Given the description of an element on the screen output the (x, y) to click on. 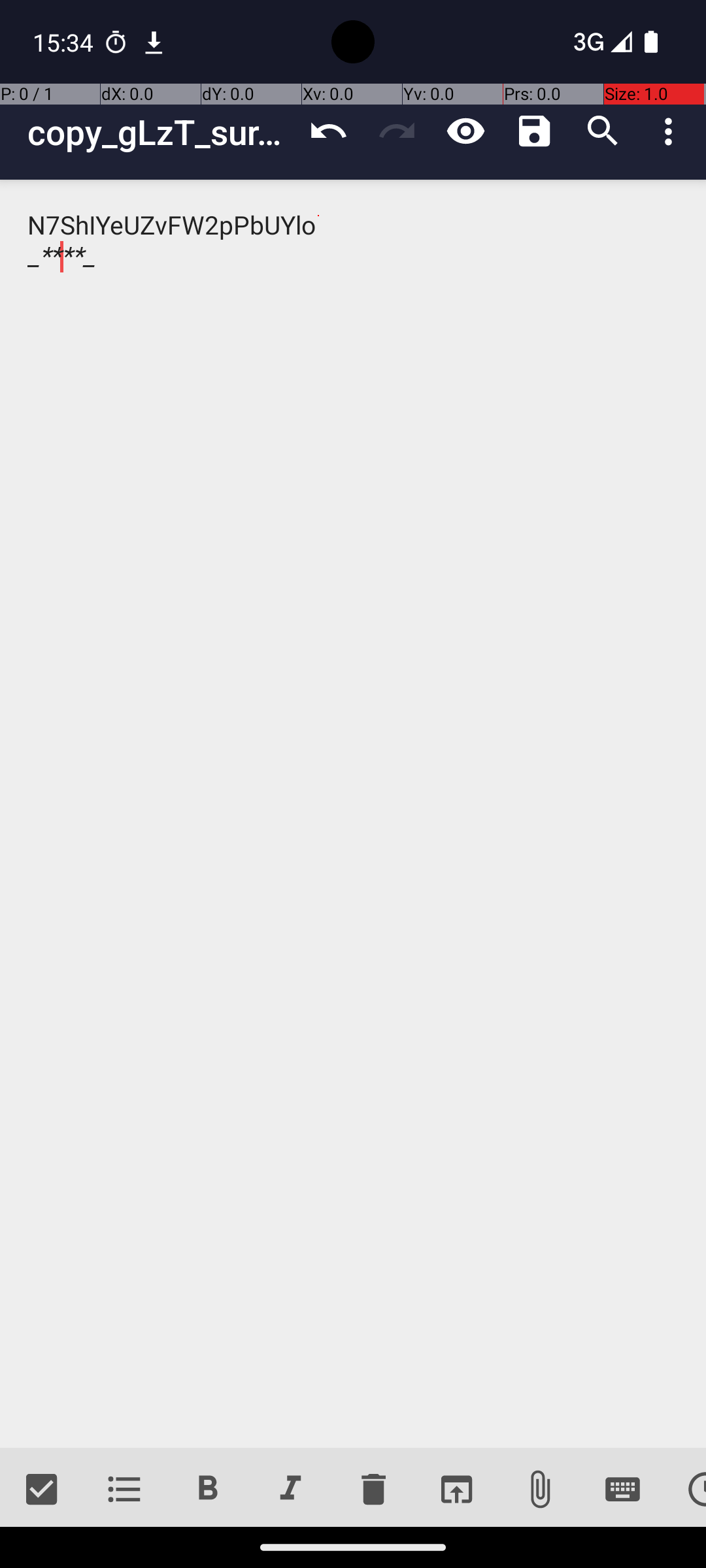
copy_gLzT_sure_nest Element type: android.widget.TextView (160, 131)
N7ShIYeUZvFW2pPbUYlo
_****_ Element type: android.widget.EditText (353, 813)
